Given the description of an element on the screen output the (x, y) to click on. 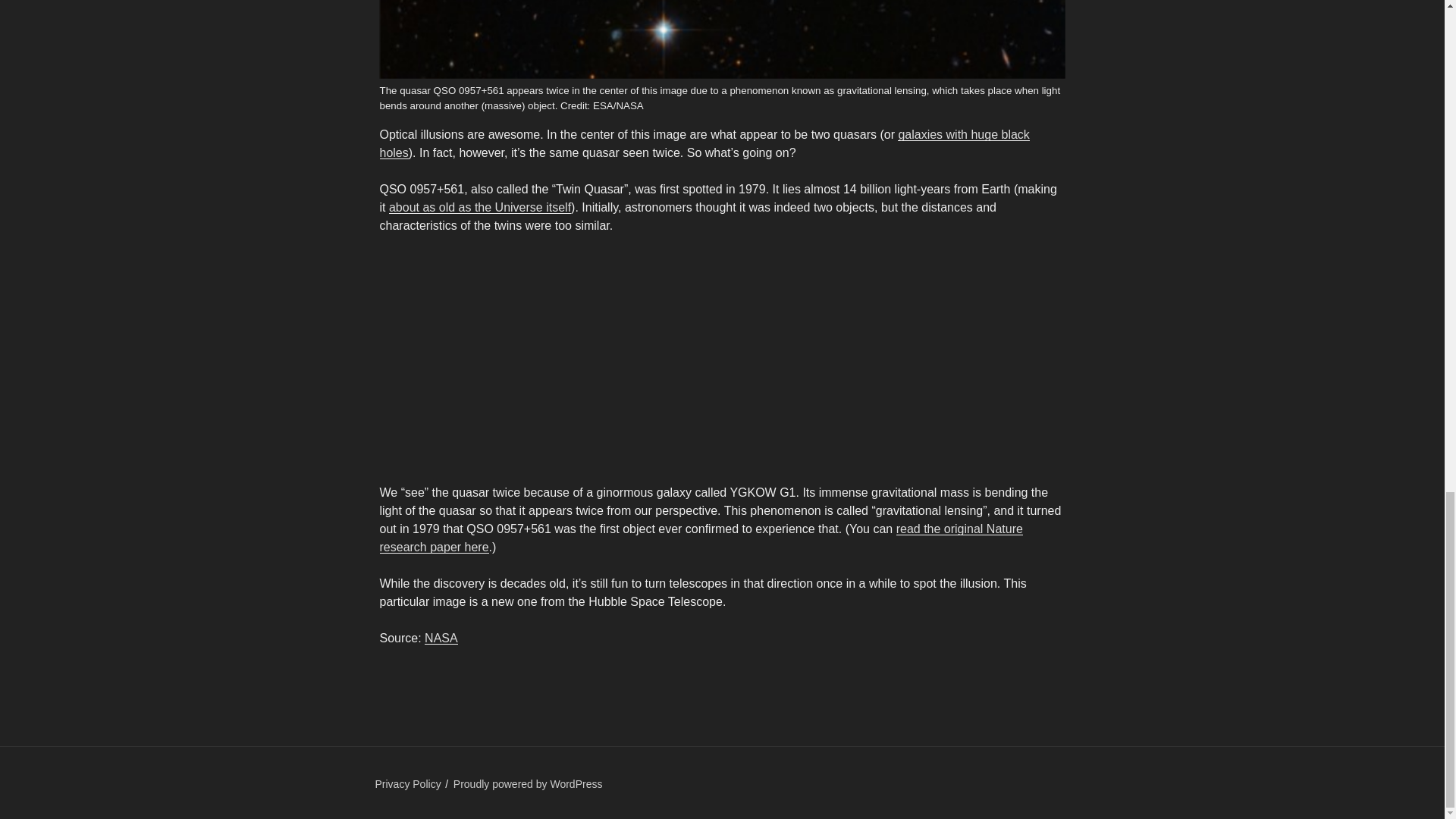
galaxies with huge black holes (703, 142)
Proudly powered by WordPress (527, 784)
Privacy Policy (407, 784)
NASA (441, 637)
read the original Nature research paper here (700, 537)
about as old as the Universe itself (479, 206)
